Given the description of an element on the screen output the (x, y) to click on. 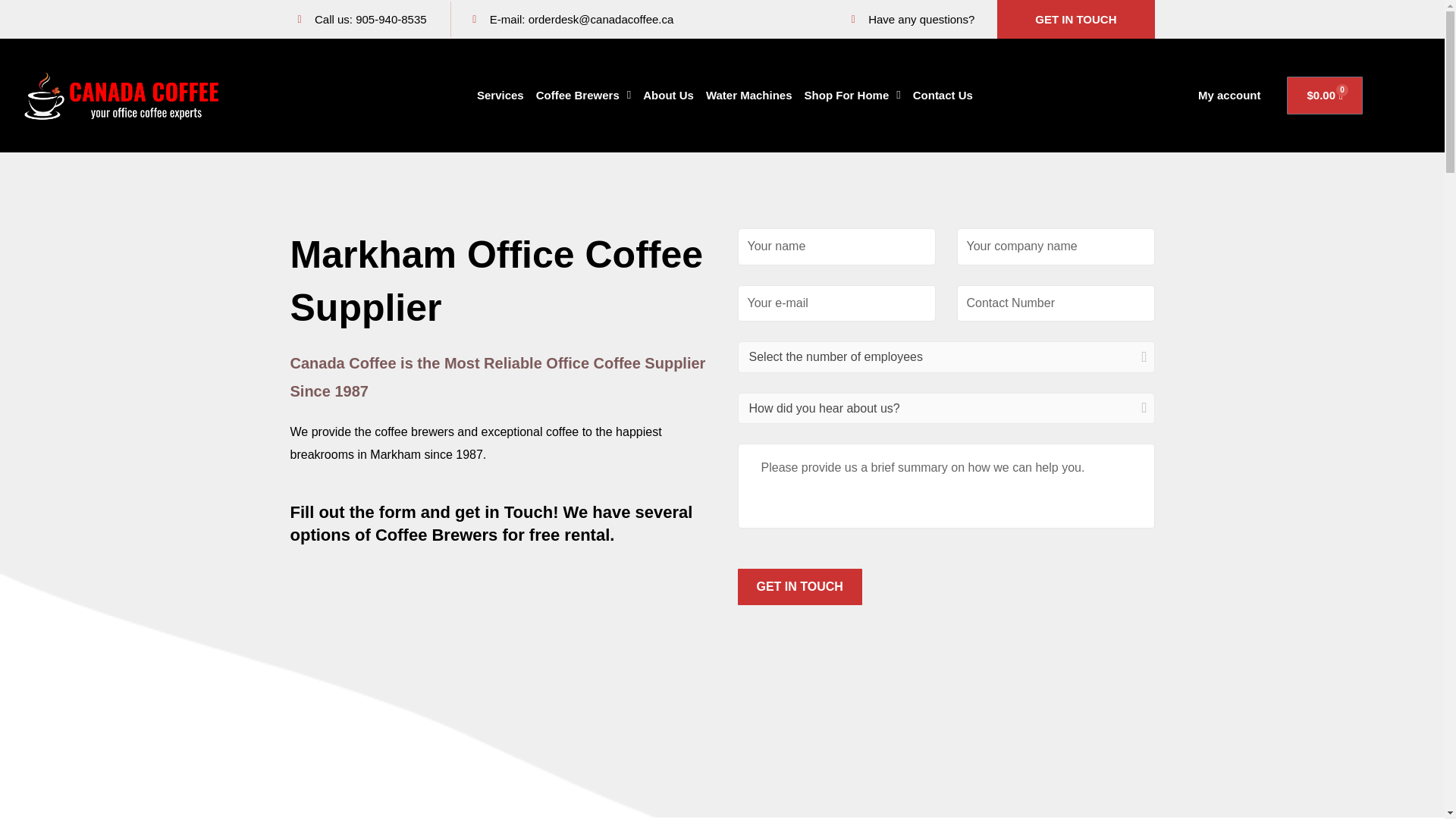
Contact Us (942, 95)
Shop For Home (852, 95)
About Us (668, 95)
My account (1229, 95)
Services (499, 95)
Call us: 905-940-8535 (369, 19)
Water Machines (748, 95)
Coffee Brewers (583, 95)
